Given the description of an element on the screen output the (x, y) to click on. 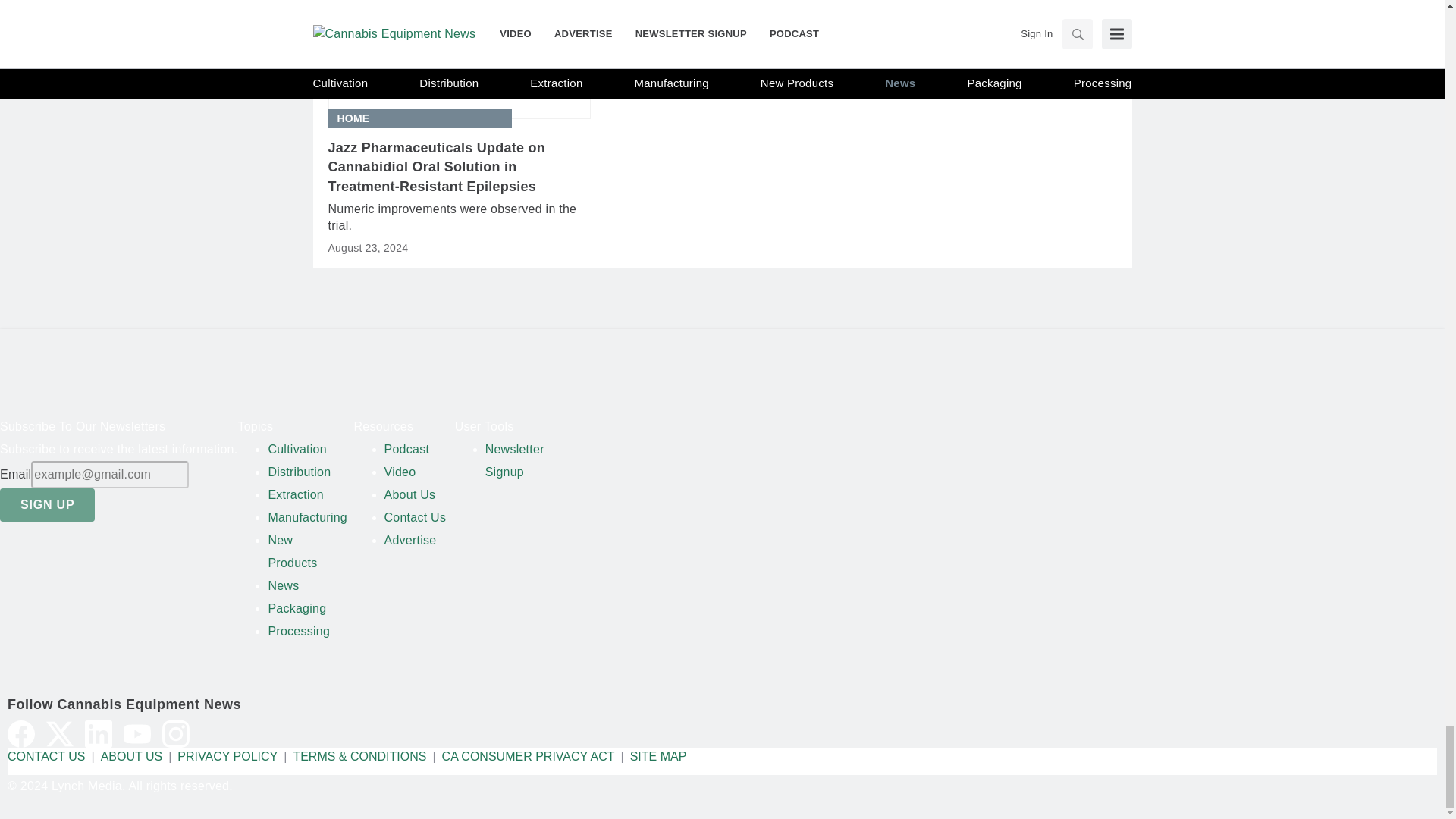
Instagram icon (175, 733)
Facebook icon (20, 733)
LinkedIn icon (98, 733)
YouTube icon (137, 733)
Twitter X icon (60, 733)
